Given the description of an element on the screen output the (x, y) to click on. 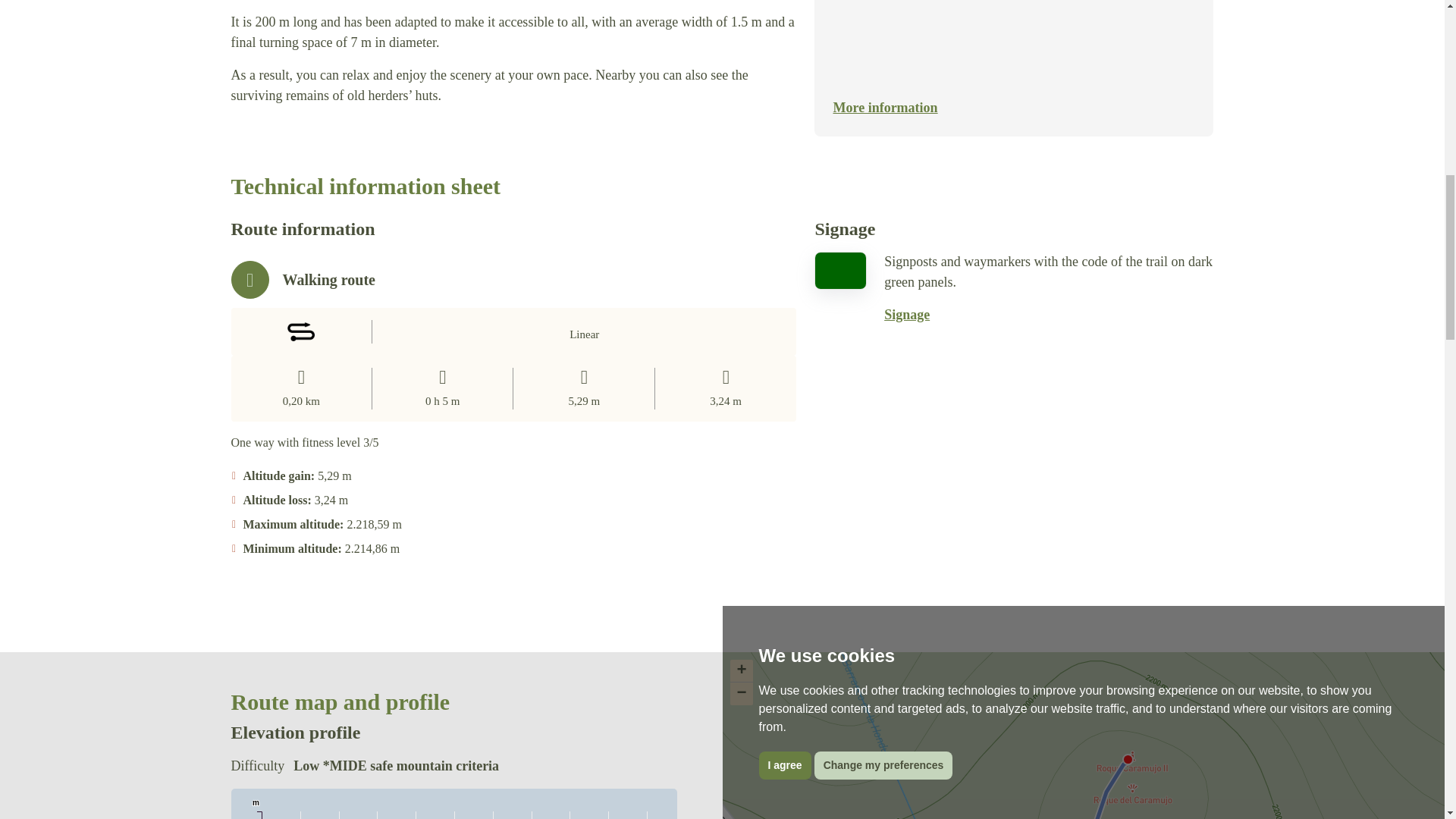
Zoom in (740, 671)
Zoom out (740, 693)
